Given the description of an element on the screen output the (x, y) to click on. 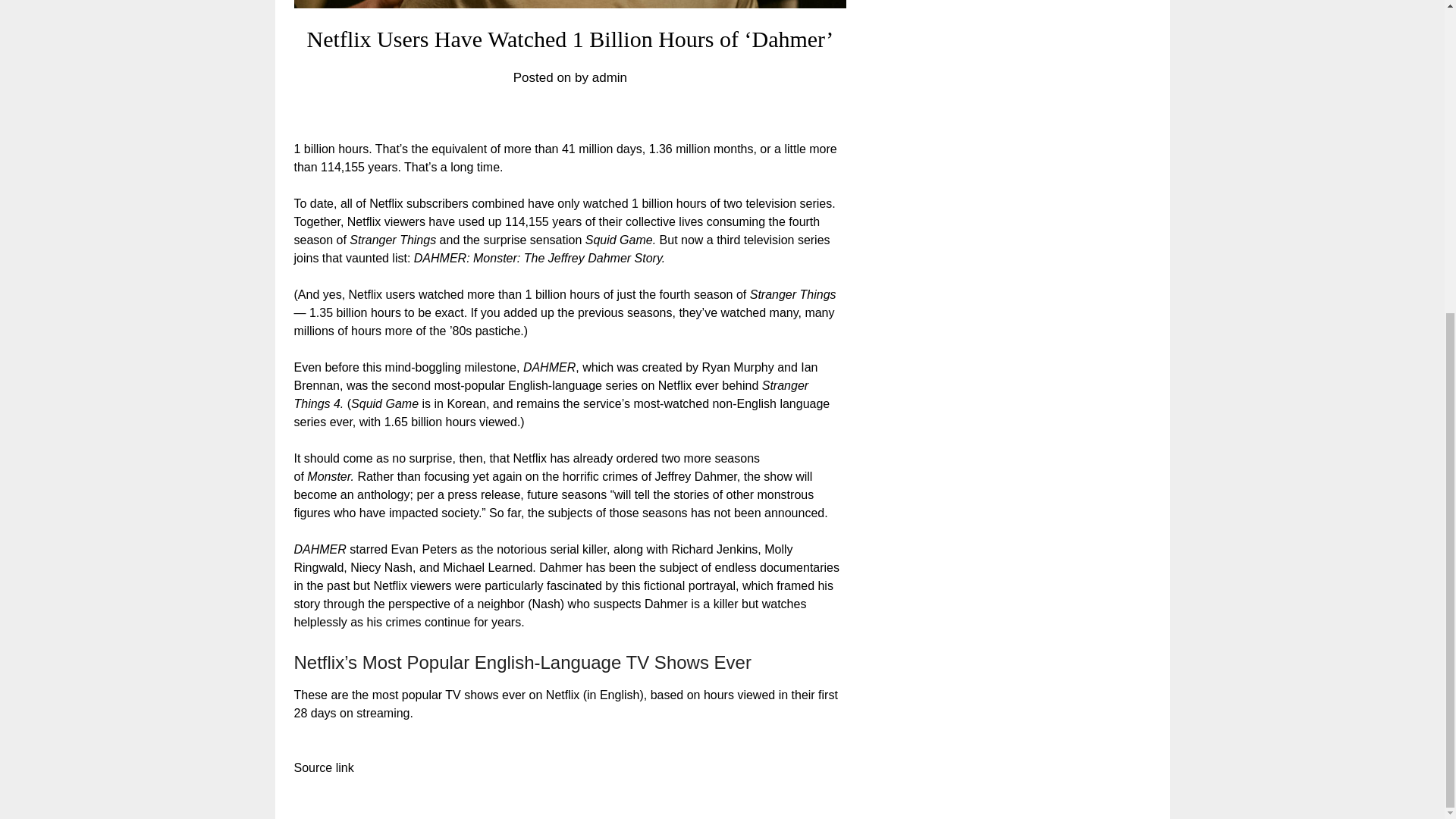
Evan Peters (424, 549)
Netflix (386, 203)
DAHMER: Monster: The Jeffrey Dahmer Story (537, 257)
admin (609, 77)
already ordered two more seasons (666, 458)
1 billion hours (562, 294)
Source link (323, 767)
